Given the description of an element on the screen output the (x, y) to click on. 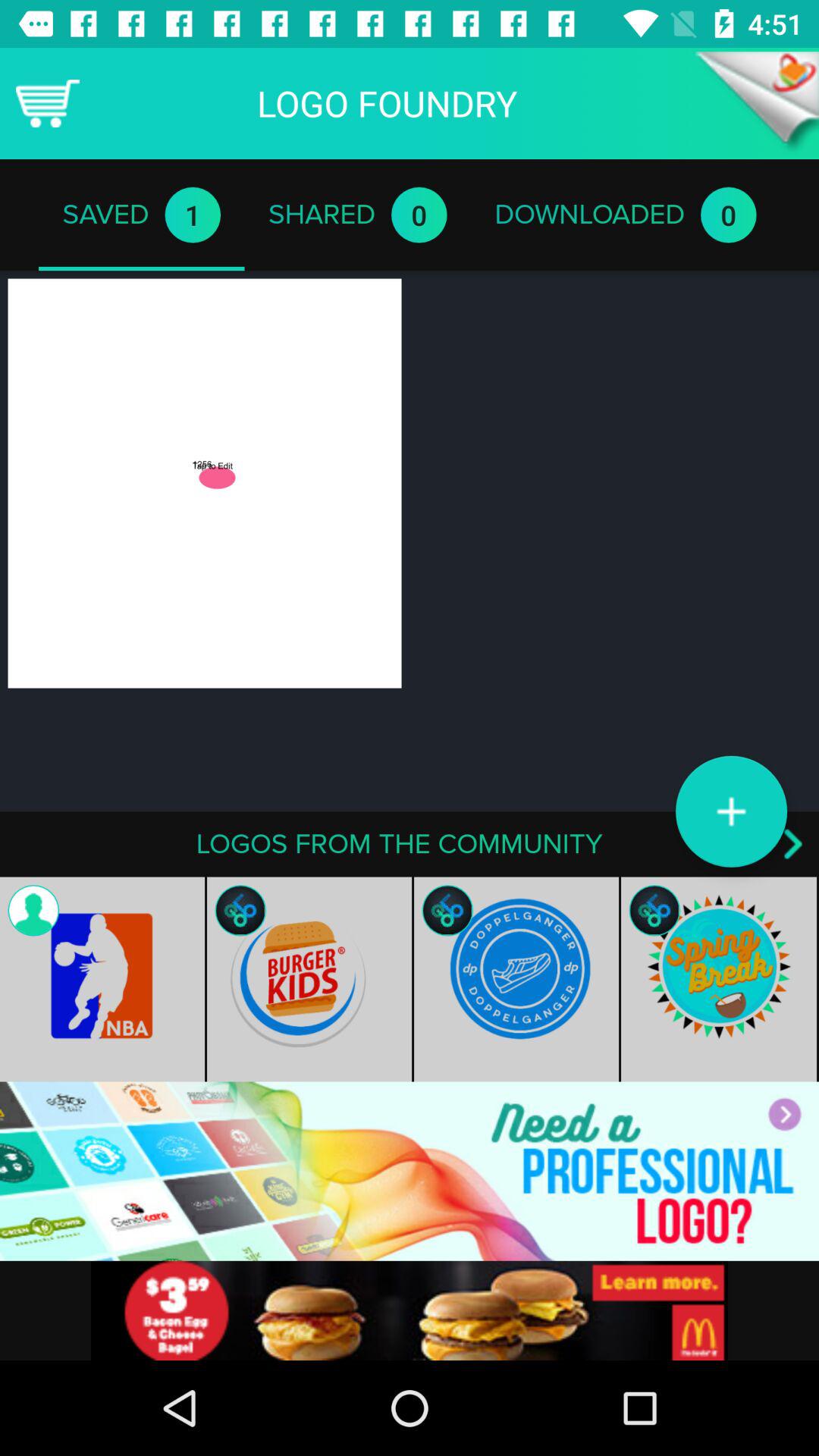
add logo (731, 811)
